Given the description of an element on the screen output the (x, y) to click on. 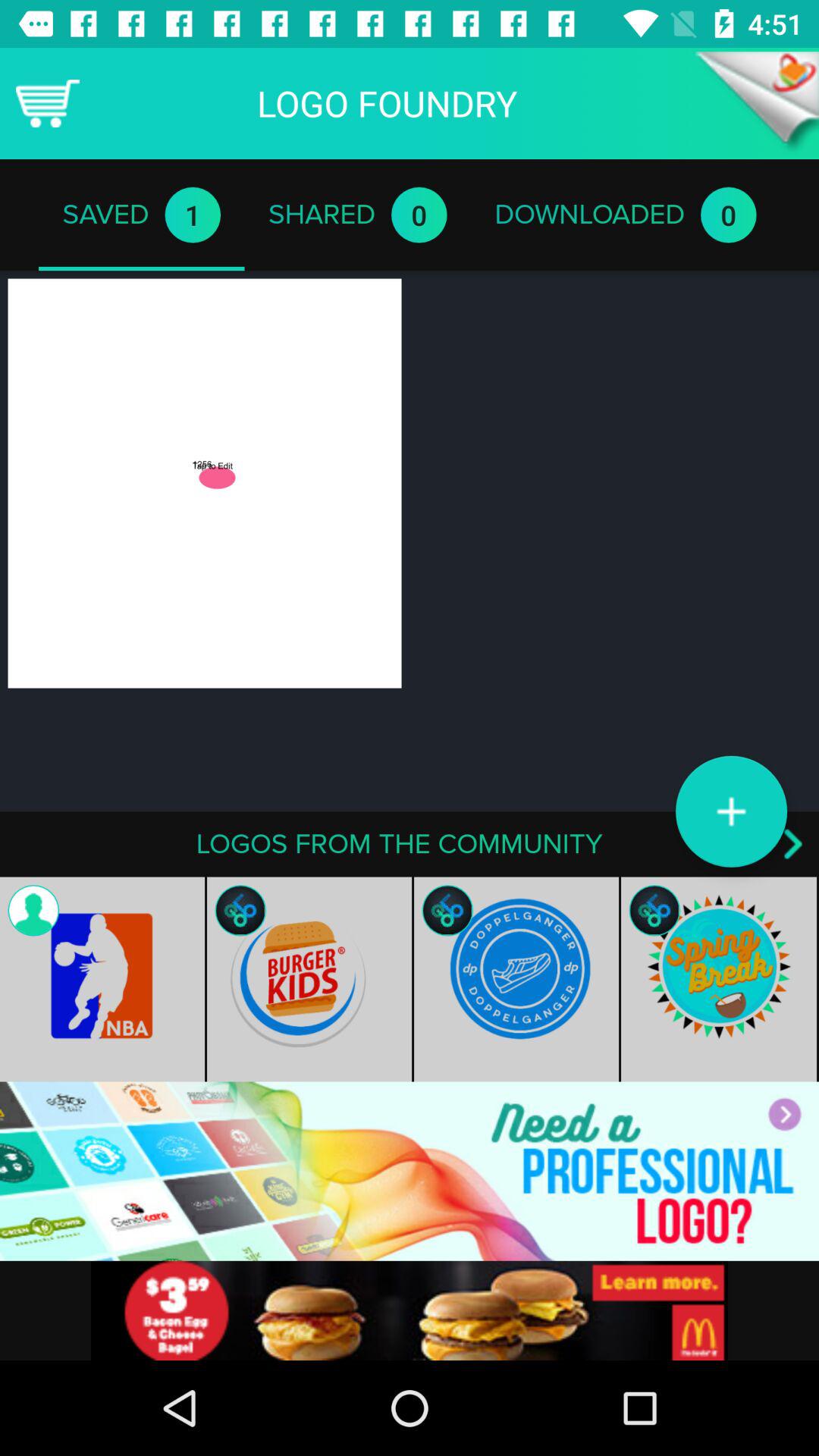
add logo (731, 811)
